Given the description of an element on the screen output the (x, y) to click on. 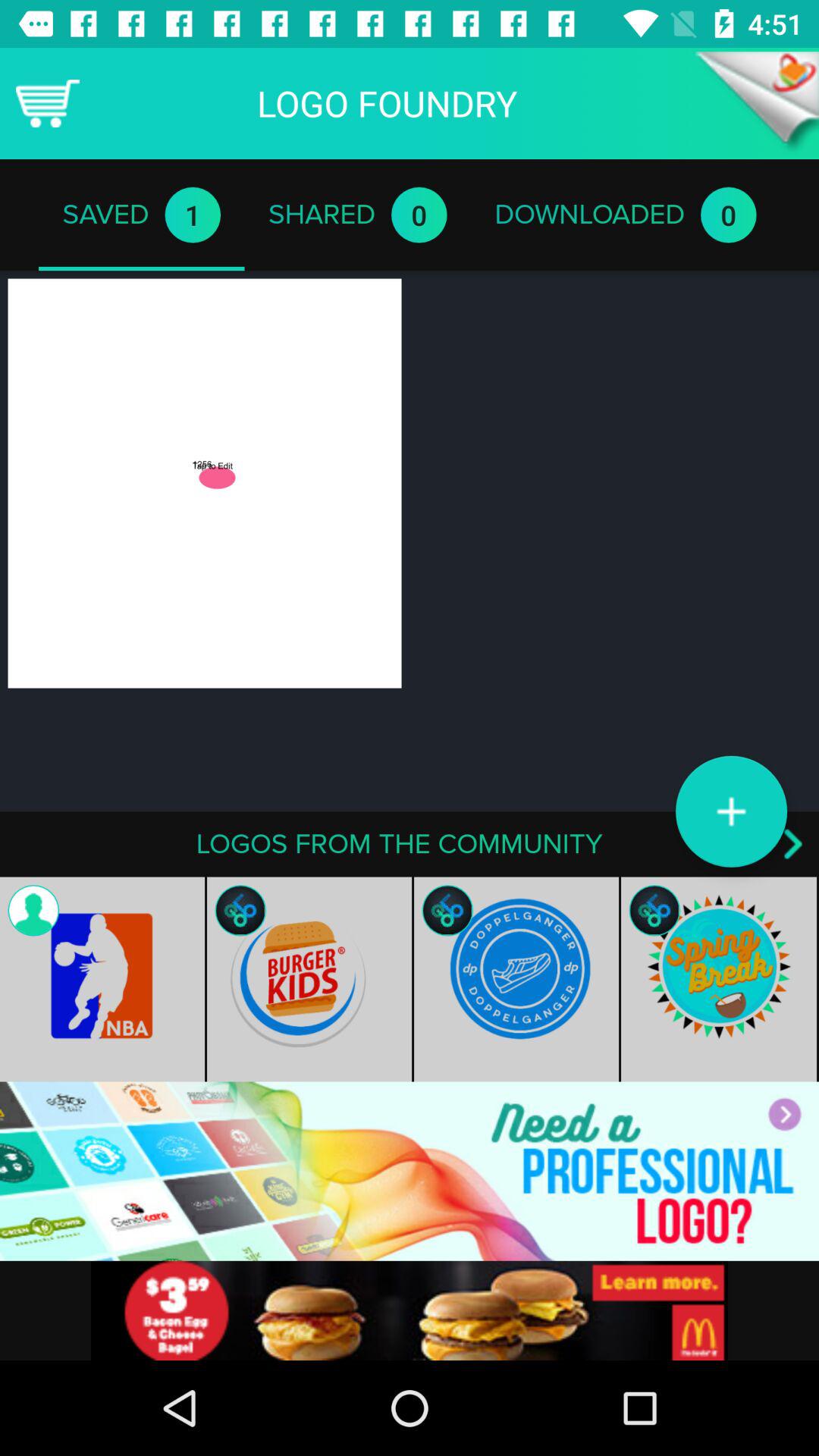
add logo (731, 811)
